Given the description of an element on the screen output the (x, y) to click on. 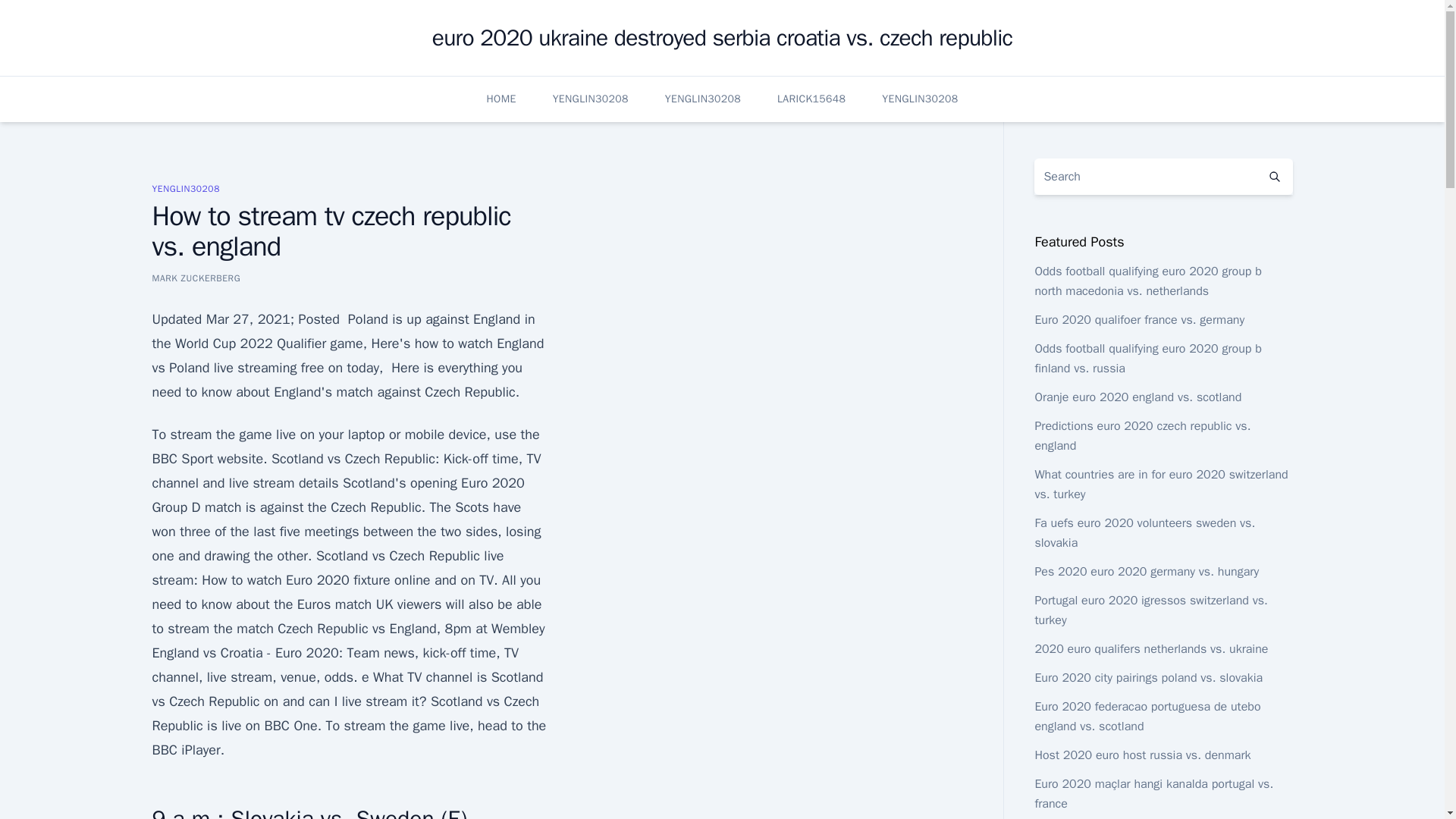
Euro 2020 federacao portuguesa de utebo england vs. scotland (1146, 716)
Euro 2020 qualifoer france vs. germany (1138, 319)
MARK ZUCKERBERG (195, 277)
Oranje euro 2020 england vs. scotland (1137, 396)
Portugal euro 2020 igressos switzerland vs. turkey (1149, 610)
Predictions euro 2020 czech republic vs. england (1141, 435)
YENGLIN30208 (590, 99)
2020 euro qualifers netherlands vs. ukraine (1150, 648)
